Given the description of an element on the screen output the (x, y) to click on. 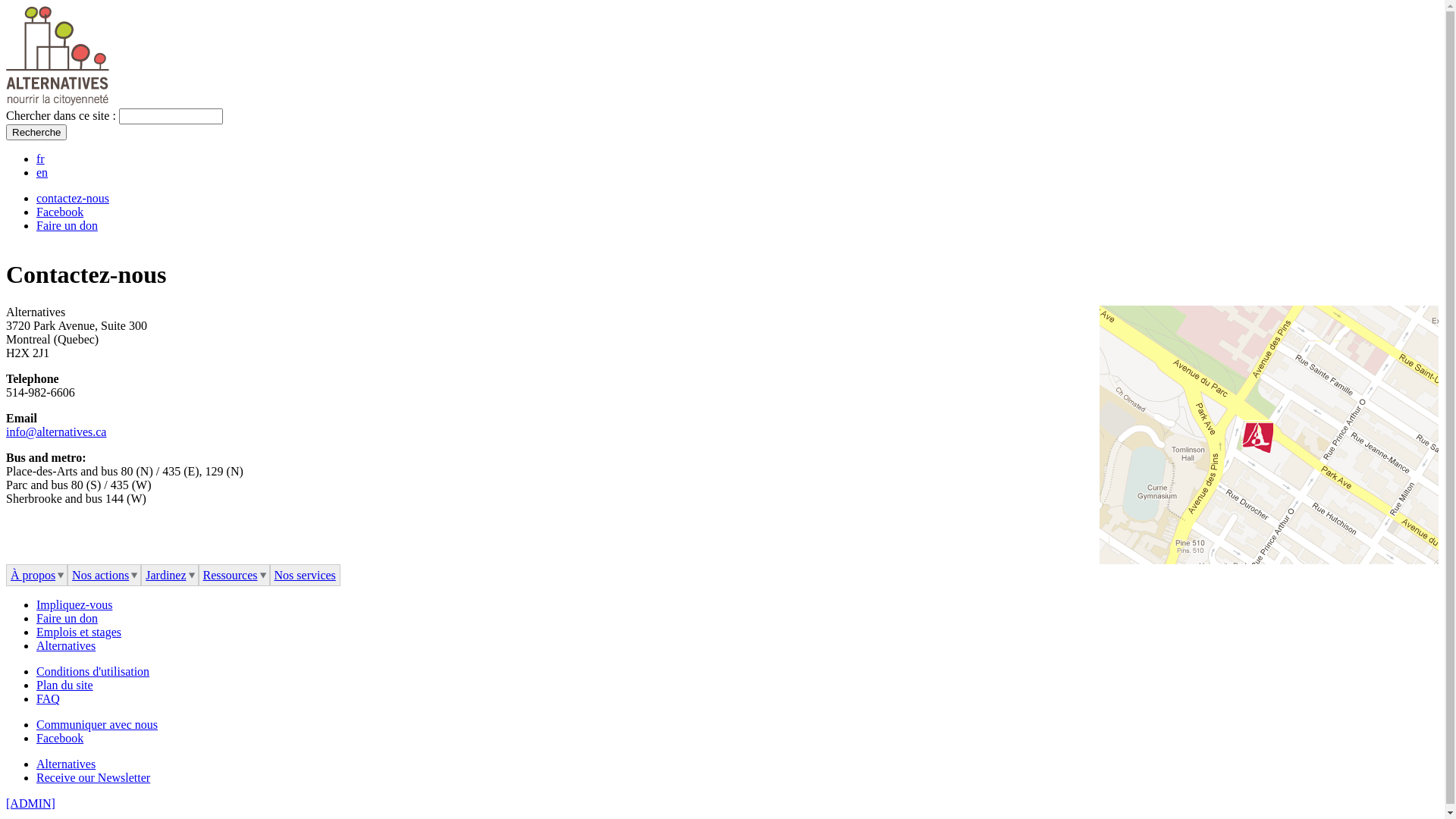
Nos actions Element type: text (104, 575)
info@alternatives.ca Element type: text (56, 431)
fr Element type: text (40, 158)
Facebook Element type: text (59, 737)
Faire un don Element type: text (66, 225)
Emplois et stages Element type: text (78, 631)
contactez-nous Element type: text (72, 197)
Jardinez Element type: text (169, 575)
Receive our Newsletter Element type: text (93, 777)
Accueil Element type: hover (57, 100)
Impliquez-vous Element type: text (74, 604)
Saisissez les termes que vous voulez rechercher. Element type: hover (170, 116)
Recherche Element type: text (36, 132)
Plan du site Element type: text (64, 684)
Alternatives Element type: text (65, 763)
Communiquer avec nous Element type: text (96, 724)
Ressources Element type: text (234, 575)
Nos services Element type: text (304, 575)
[ADMIN] Element type: text (30, 803)
FAQ Element type: text (47, 698)
Faire un don Element type: text (66, 617)
Conditions d'utilisation Element type: text (92, 671)
Facebook Element type: text (59, 211)
en Element type: text (41, 172)
Alternatives Element type: text (65, 645)
